Given the description of an element on the screen output the (x, y) to click on. 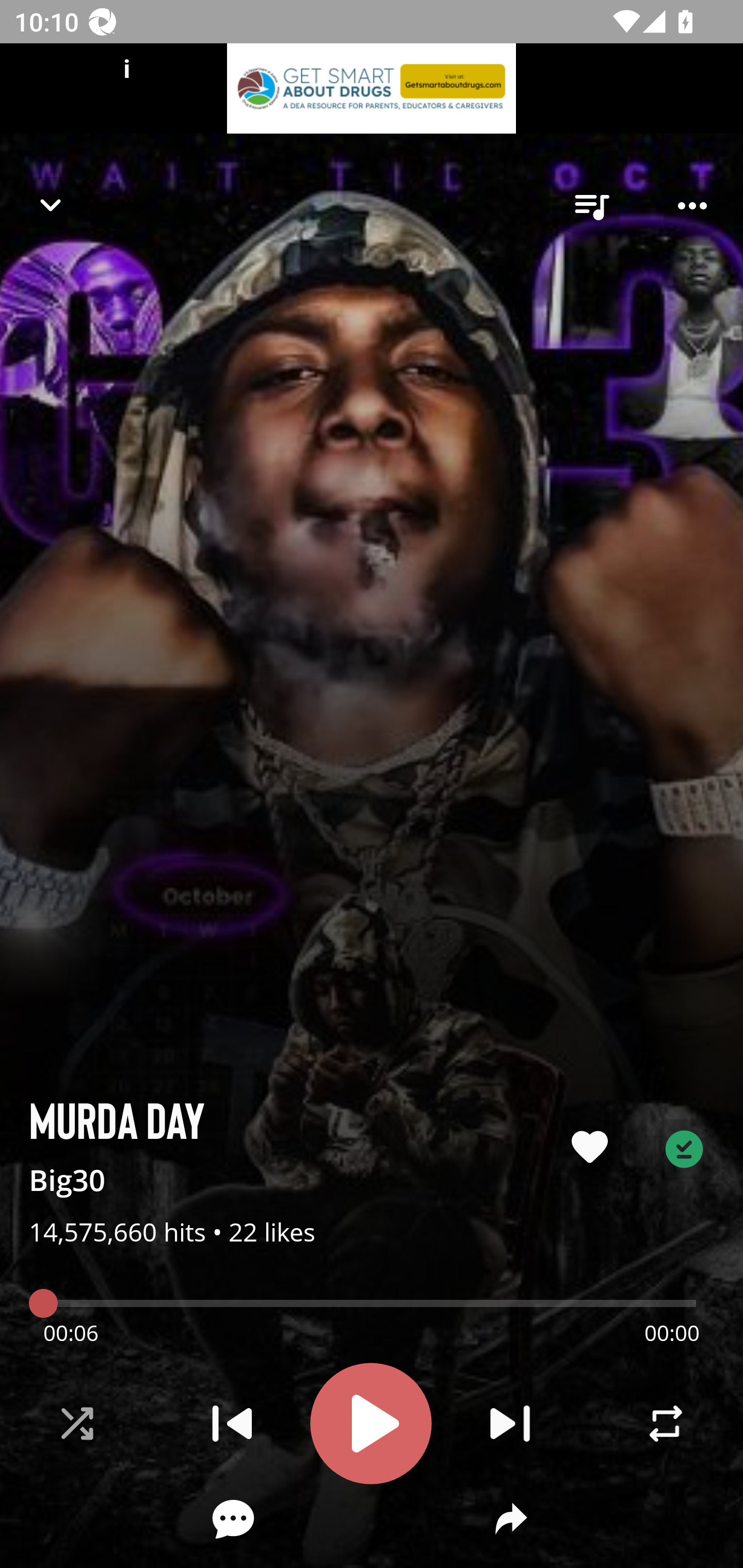
Navigate up (50, 205)
queue (590, 206)
Player options (692, 206)
